Given the description of an element on the screen output the (x, y) to click on. 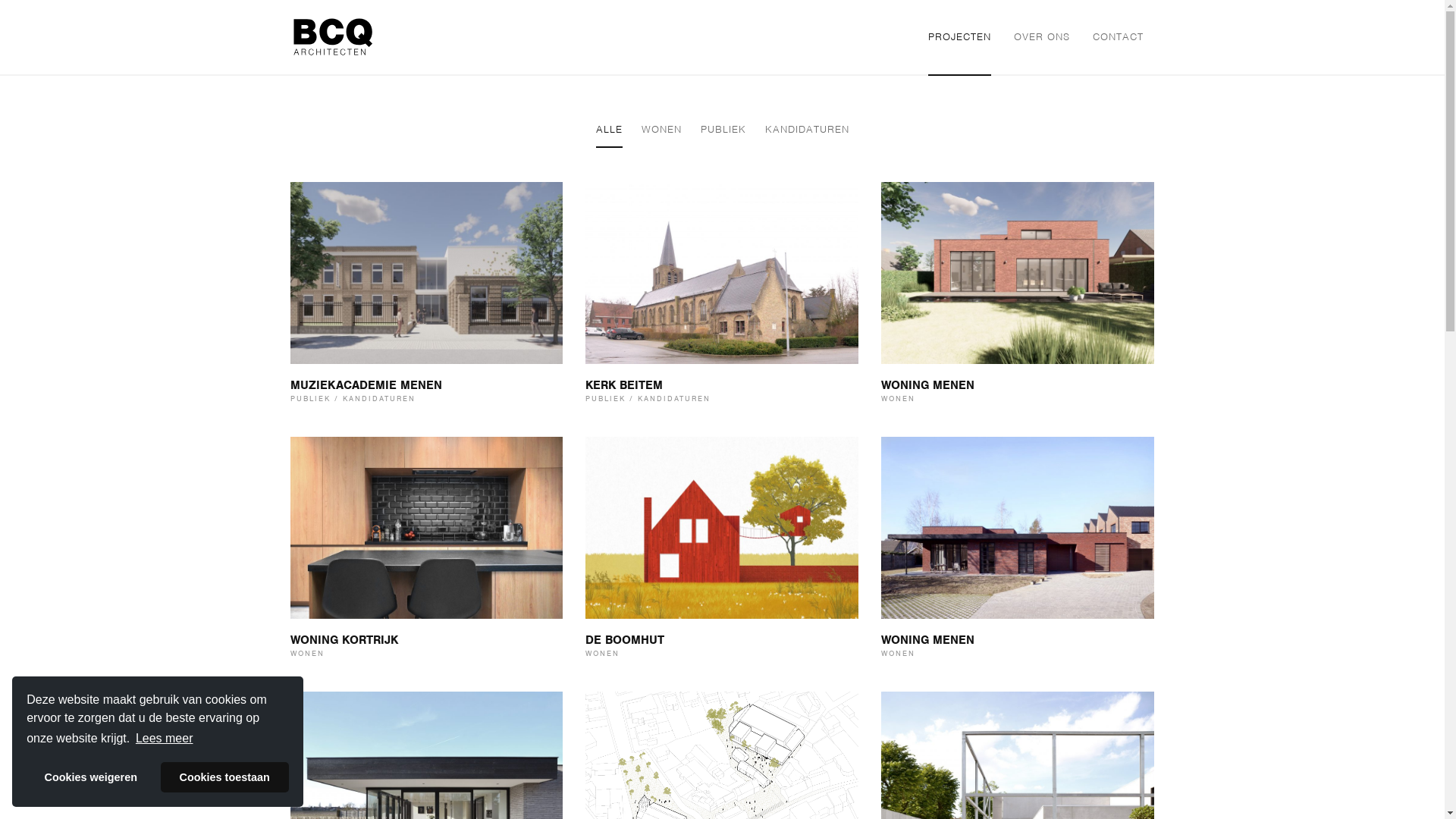
PROJECTEN Element type: text (959, 36)
Cookies weigeren Element type: text (90, 777)
WONING MENEN
WONEN Element type: text (1017, 298)
WONEN Element type: text (661, 129)
CONTACT Element type: text (1117, 36)
PUBLIEK Element type: text (723, 129)
MUZIEKACADEMIE MENEN
PUBLIEK / KANDIDATUREN Element type: text (425, 298)
WONING MENEN
WONEN Element type: text (1017, 552)
Lees meer Element type: text (164, 738)
KERK BEITEM
PUBLIEK / KANDIDATUREN Element type: text (721, 298)
Cookies toestaan Element type: text (224, 777)
OVER ONS Element type: text (1041, 36)
KANDIDATUREN Element type: text (806, 129)
WONING KORTRIJK
WONEN Element type: text (425, 552)
DE BOOMHUT
WONEN Element type: text (721, 552)
ALLE Element type: text (609, 129)
